Given the description of an element on the screen output the (x, y) to click on. 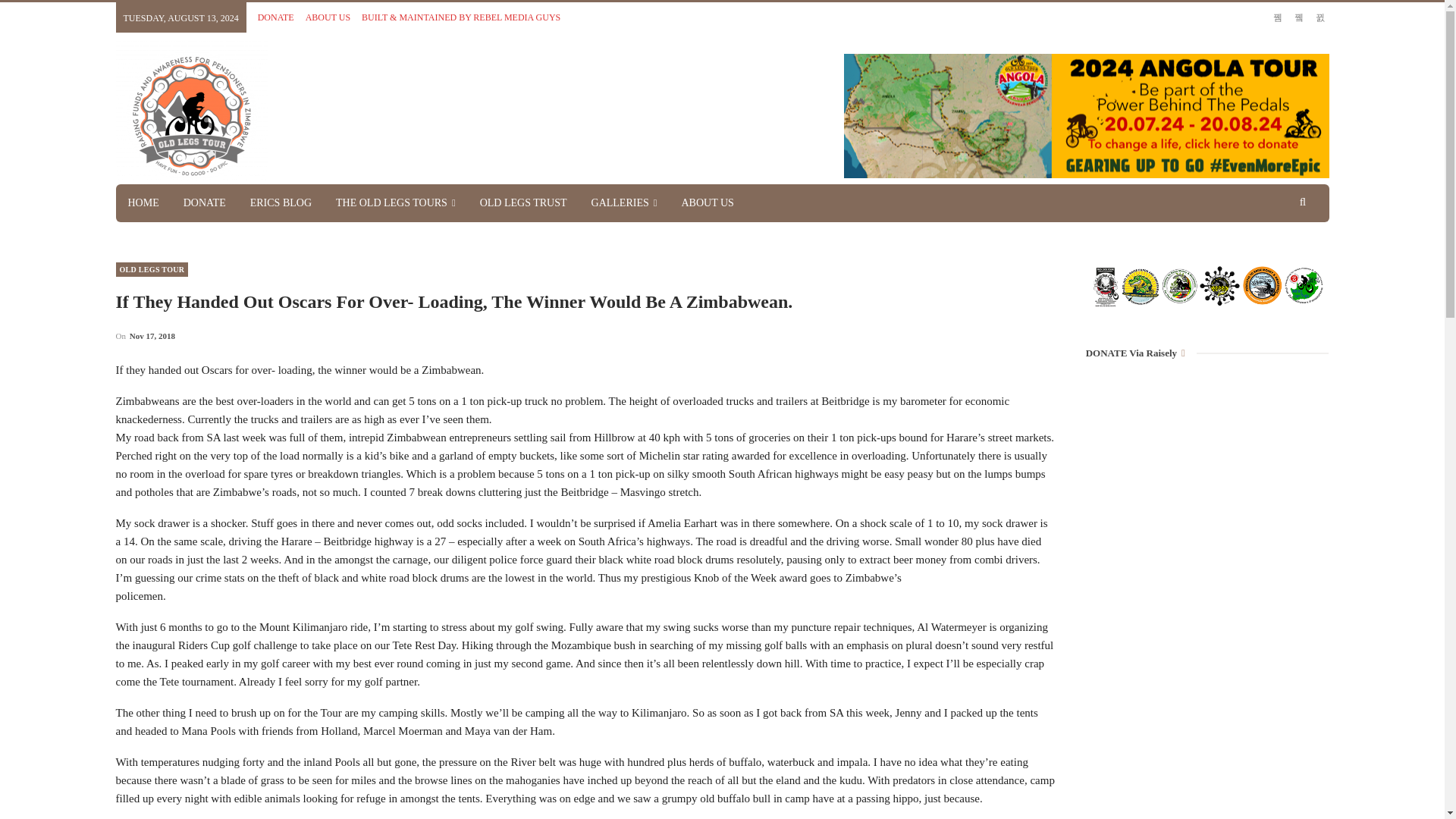
DONATE (204, 202)
ABOUT US (327, 17)
OLD LEGS TOUR (151, 269)
DONATE (275, 17)
ERICS BLOG (280, 202)
GALLERIES (624, 202)
THE OLD LEGS TOURS (395, 202)
HOME (142, 202)
OLD LEGS TRUST (523, 202)
ABOUT US (706, 202)
